Given the description of an element on the screen output the (x, y) to click on. 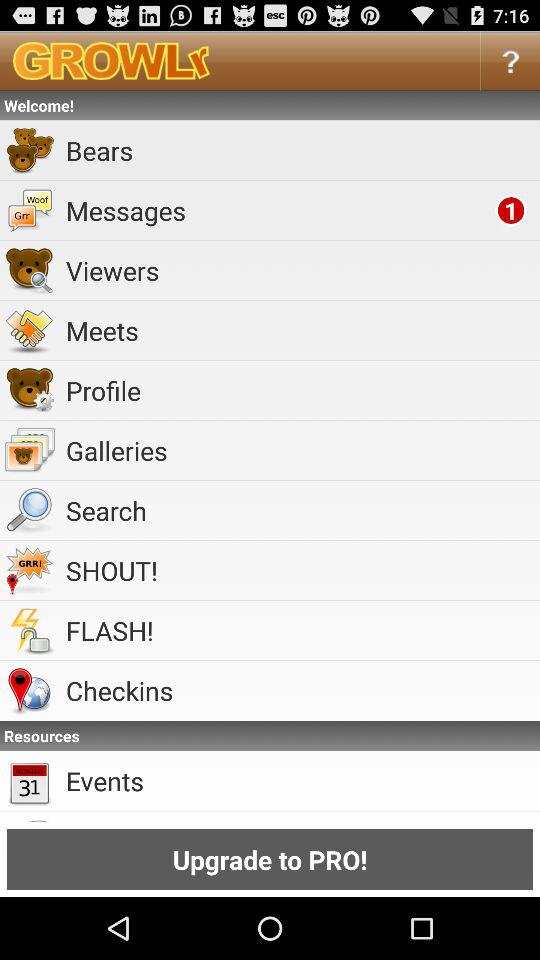
scroll to welcome! (270, 105)
